Given the description of an element on the screen output the (x, y) to click on. 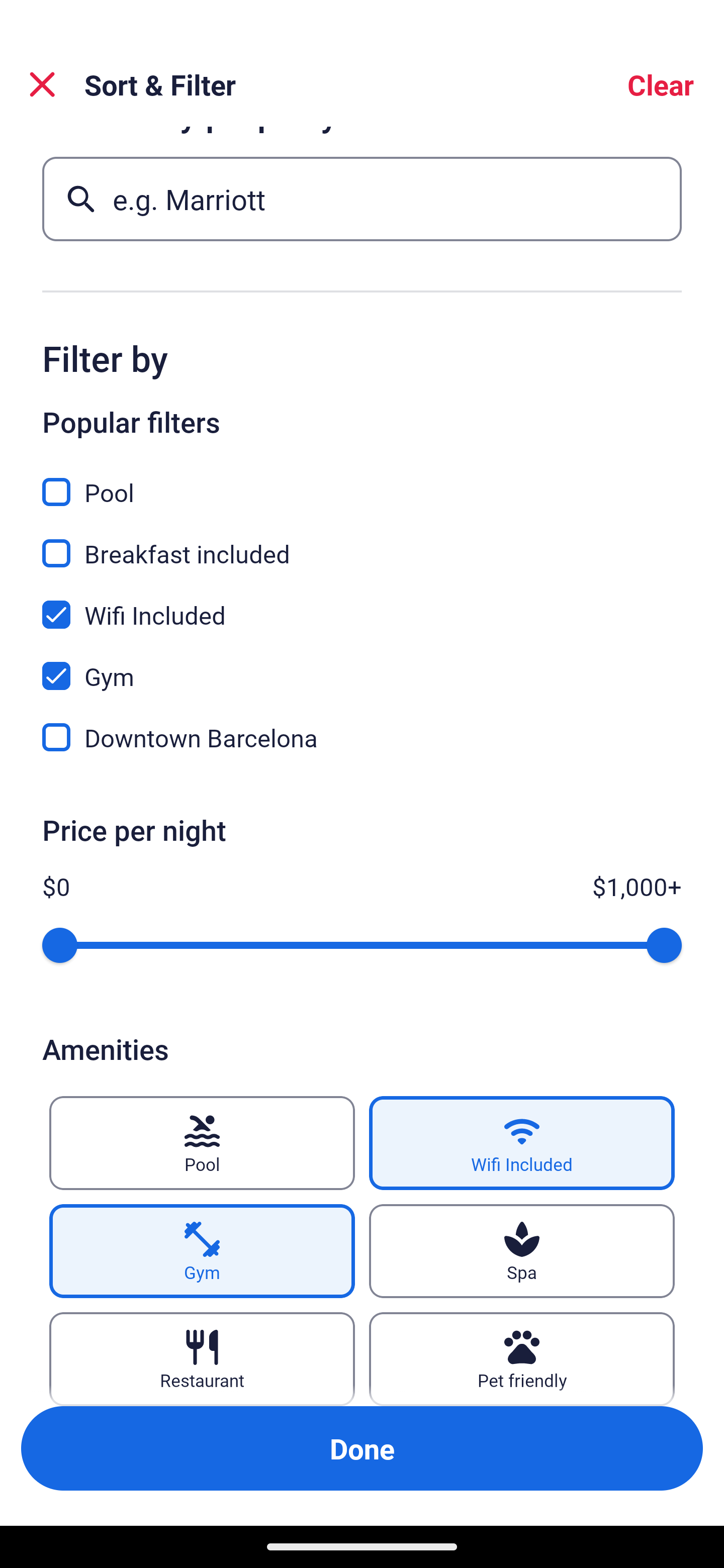
Close Sort and Filter (42, 84)
Clear (660, 84)
e.g. Marriott Button (361, 198)
Pool, Pool (361, 480)
Breakfast included, Breakfast included (361, 541)
Wifi Included, Wifi Included (361, 602)
Gym, Gym (361, 664)
Downtown Barcelona, Downtown Barcelona (361, 737)
Pool (201, 1143)
Wifi Included (521, 1143)
Gym (201, 1251)
Spa (521, 1251)
Restaurant (201, 1359)
Pet friendly (521, 1359)
Apply and close Sort and Filter Done (361, 1448)
